Given the description of an element on the screen output the (x, y) to click on. 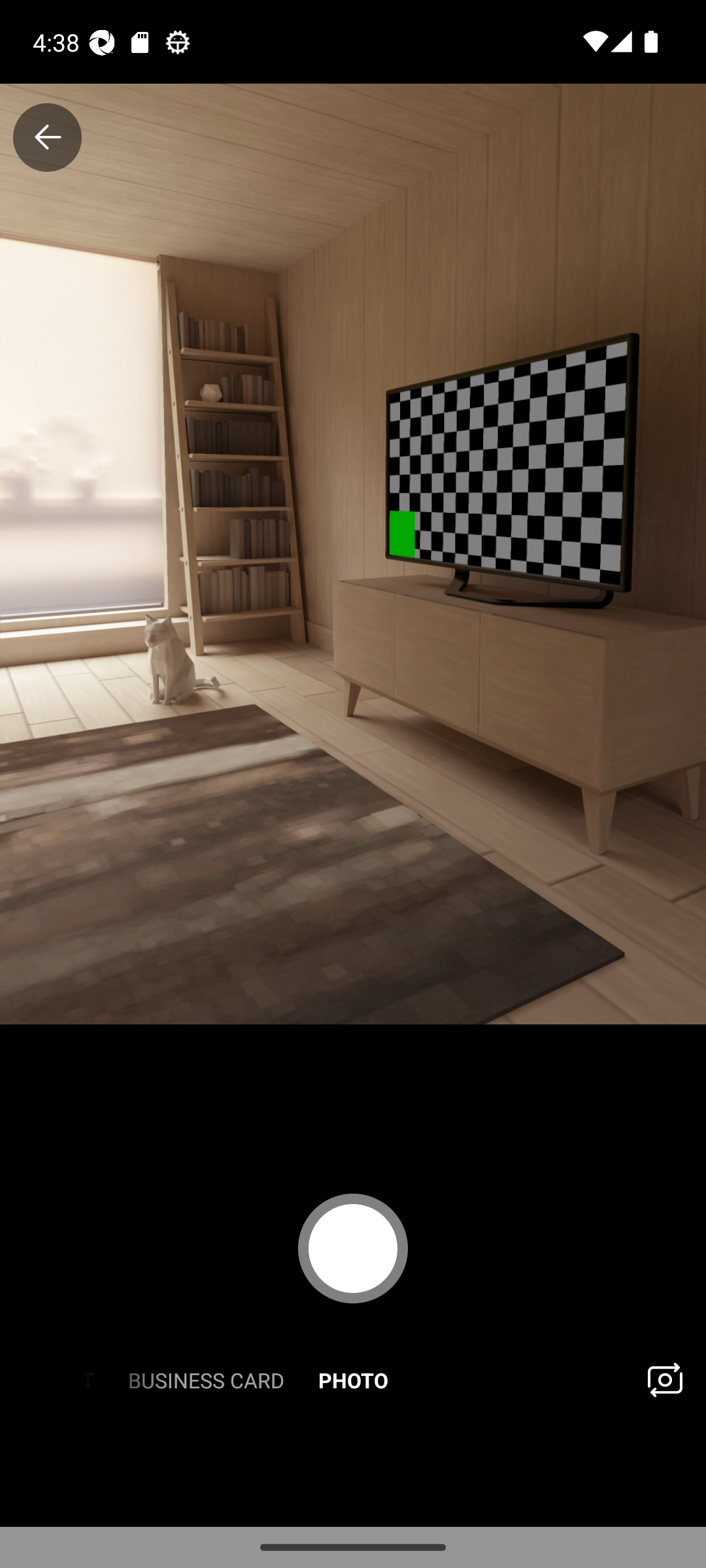
Close (47, 137)
Capture (352, 1248)
Flip Camera (664, 1378)
BUSINESS CARD (205, 1379)
PHOTO (352, 1379)
